Given the description of an element on the screen output the (x, y) to click on. 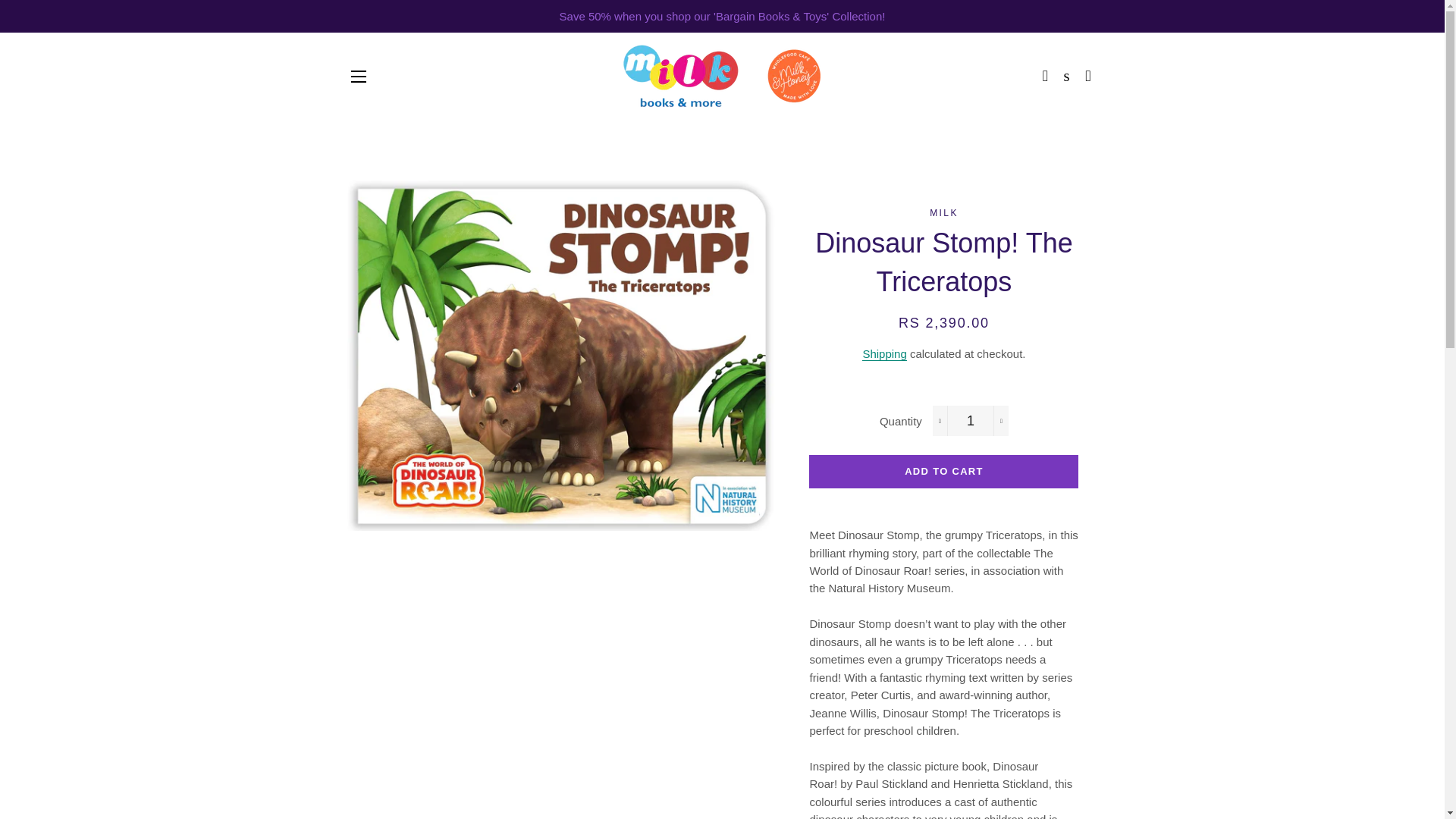
1 (971, 420)
SITE NAVIGATION (358, 76)
